Given the description of an element on the screen output the (x, y) to click on. 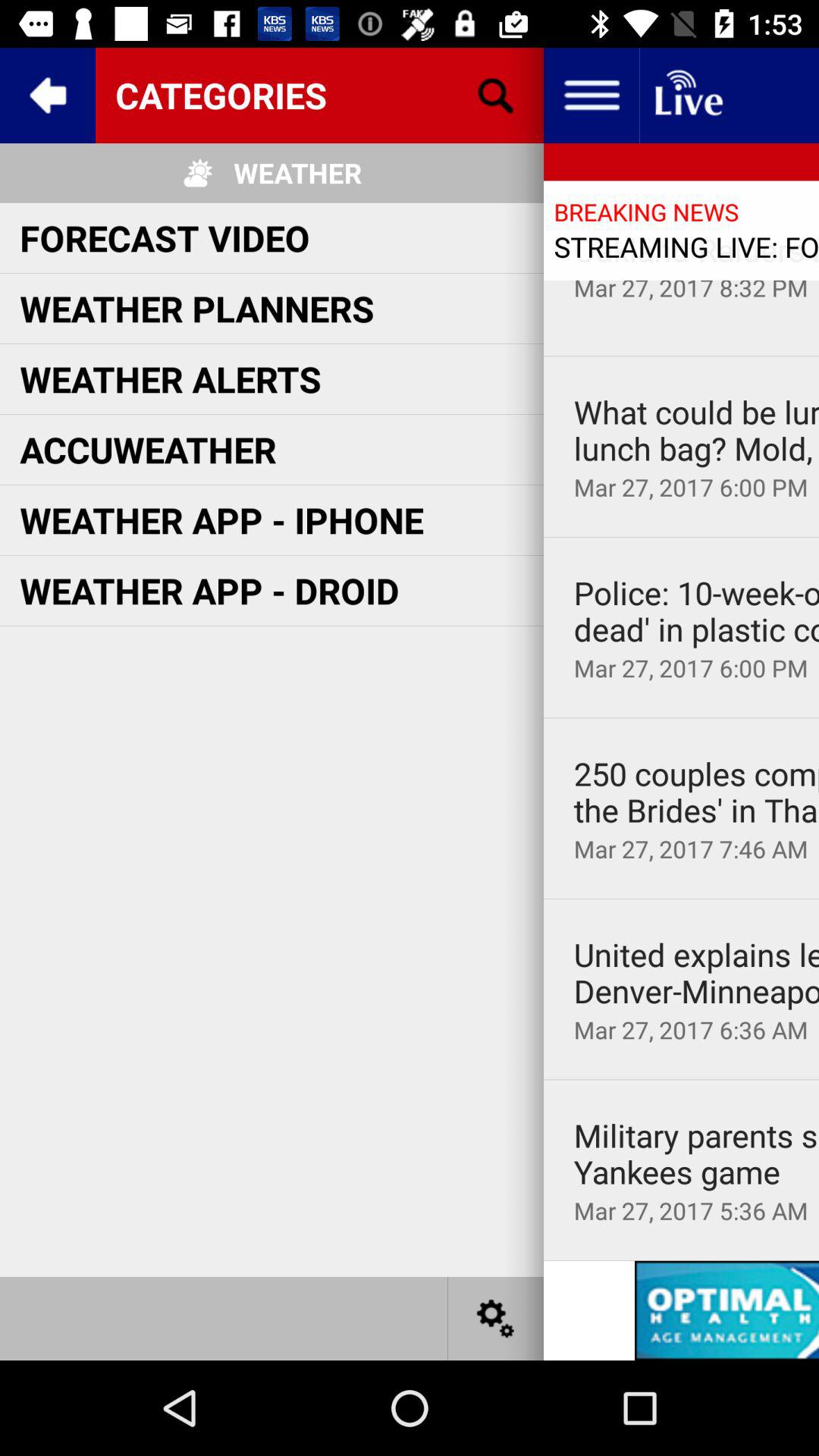
open the military parents surprise icon (696, 1153)
